Given the description of an element on the screen output the (x, y) to click on. 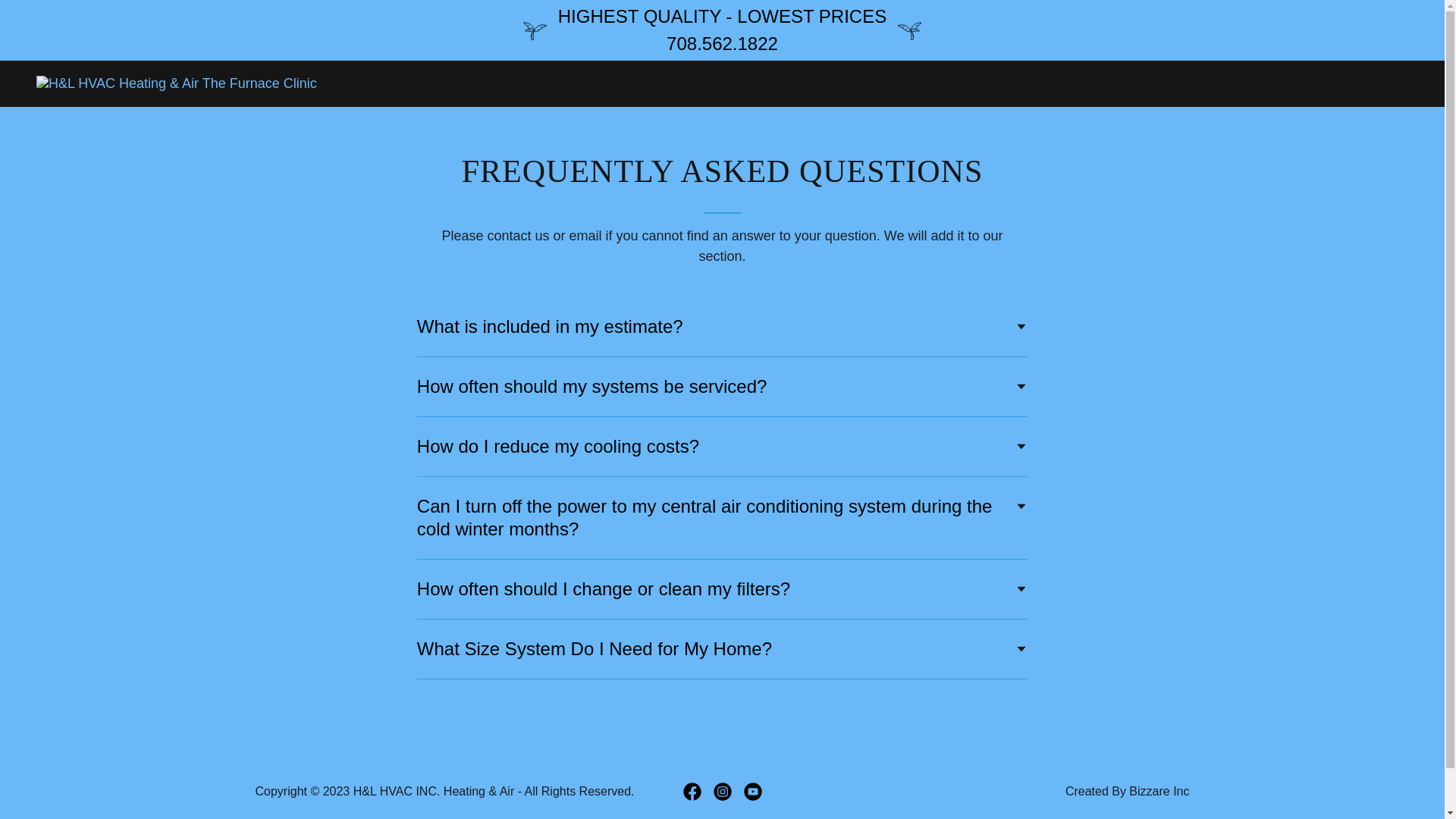
How often should I change or clean my filters? (721, 588)
How often should my systems be serviced? (721, 386)
What is included in my estimate? (721, 326)
How do I reduce my cooling costs? (721, 446)
What Size System Do I Need for My Home? (721, 648)
